Given the description of an element on the screen output the (x, y) to click on. 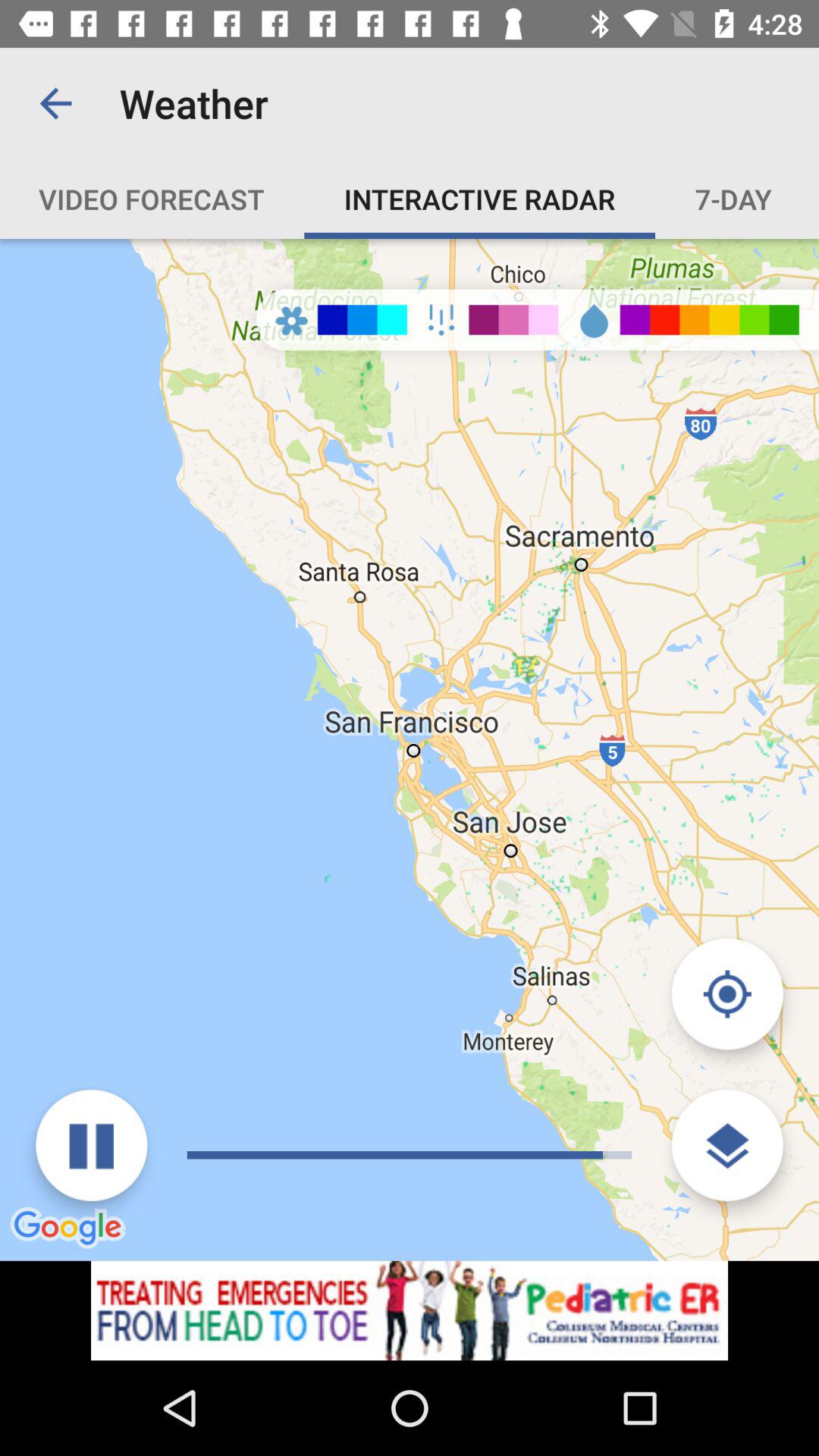
stop button (91, 1145)
